Given the description of an element on the screen output the (x, y) to click on. 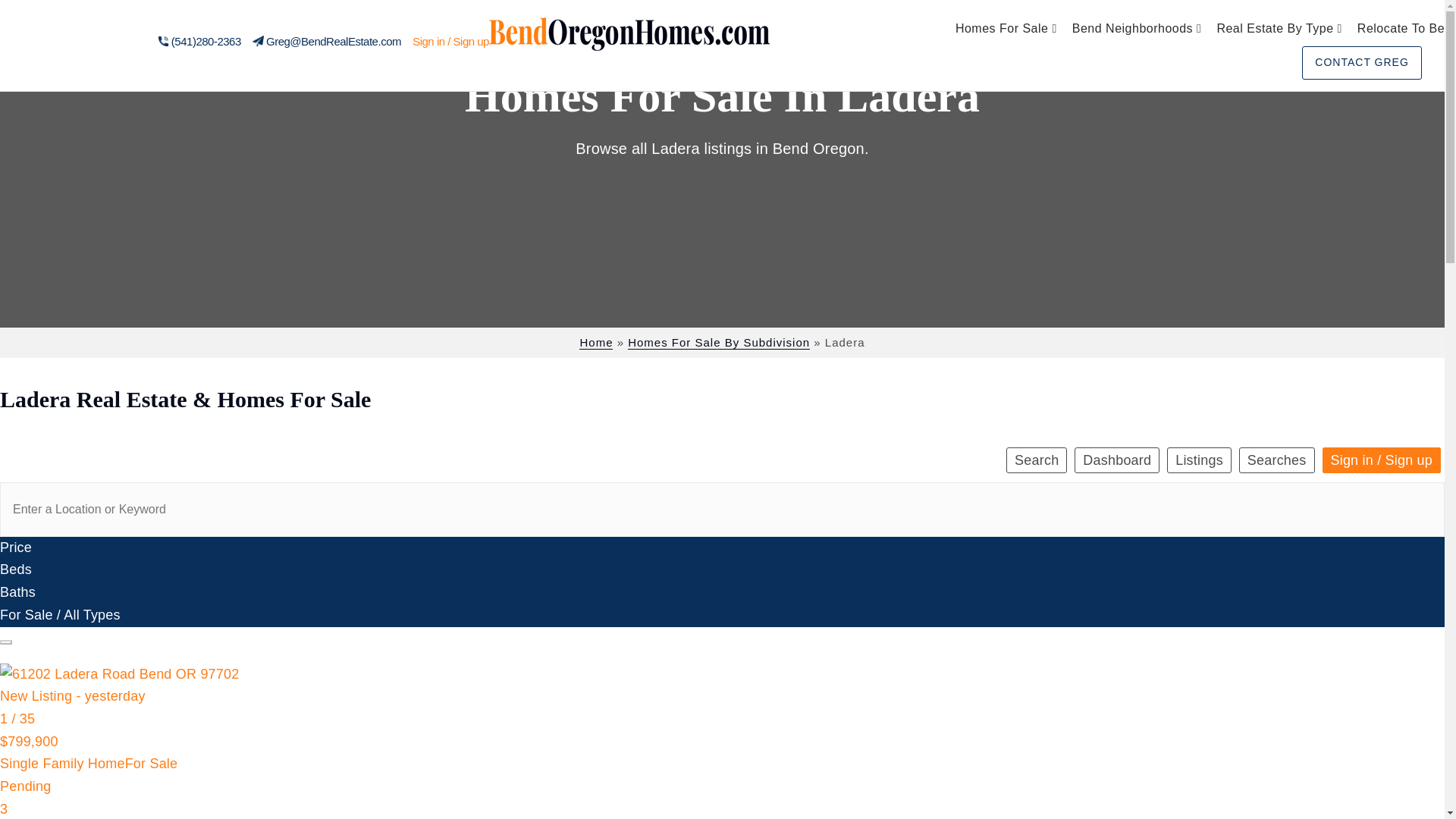
Bend Neighborhoods (1136, 28)
Real Estate By Type (1278, 28)
Bend Neighborhoods (1136, 28)
CONTACT GREG (1361, 62)
Real Estate By Type (1278, 28)
Homes For Sale (1005, 28)
Homes For Sale (1005, 28)
